Given the description of an element on the screen output the (x, y) to click on. 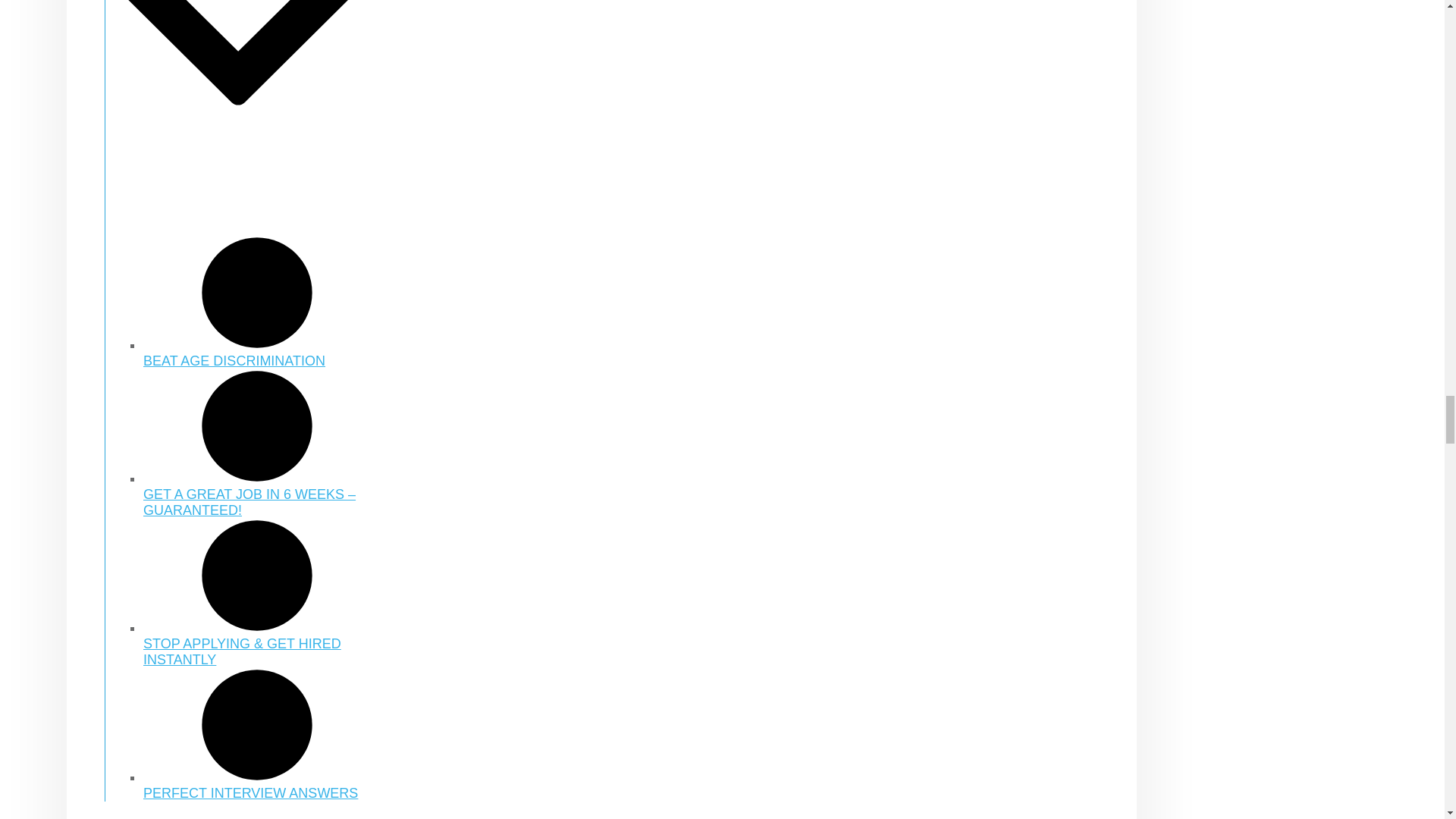
BEAT AGE DISCRIMINATION (256, 352)
PERFECT INTERVIEW ANSWERS (256, 784)
Instant Webinars (237, 117)
